Given the description of an element on the screen output the (x, y) to click on. 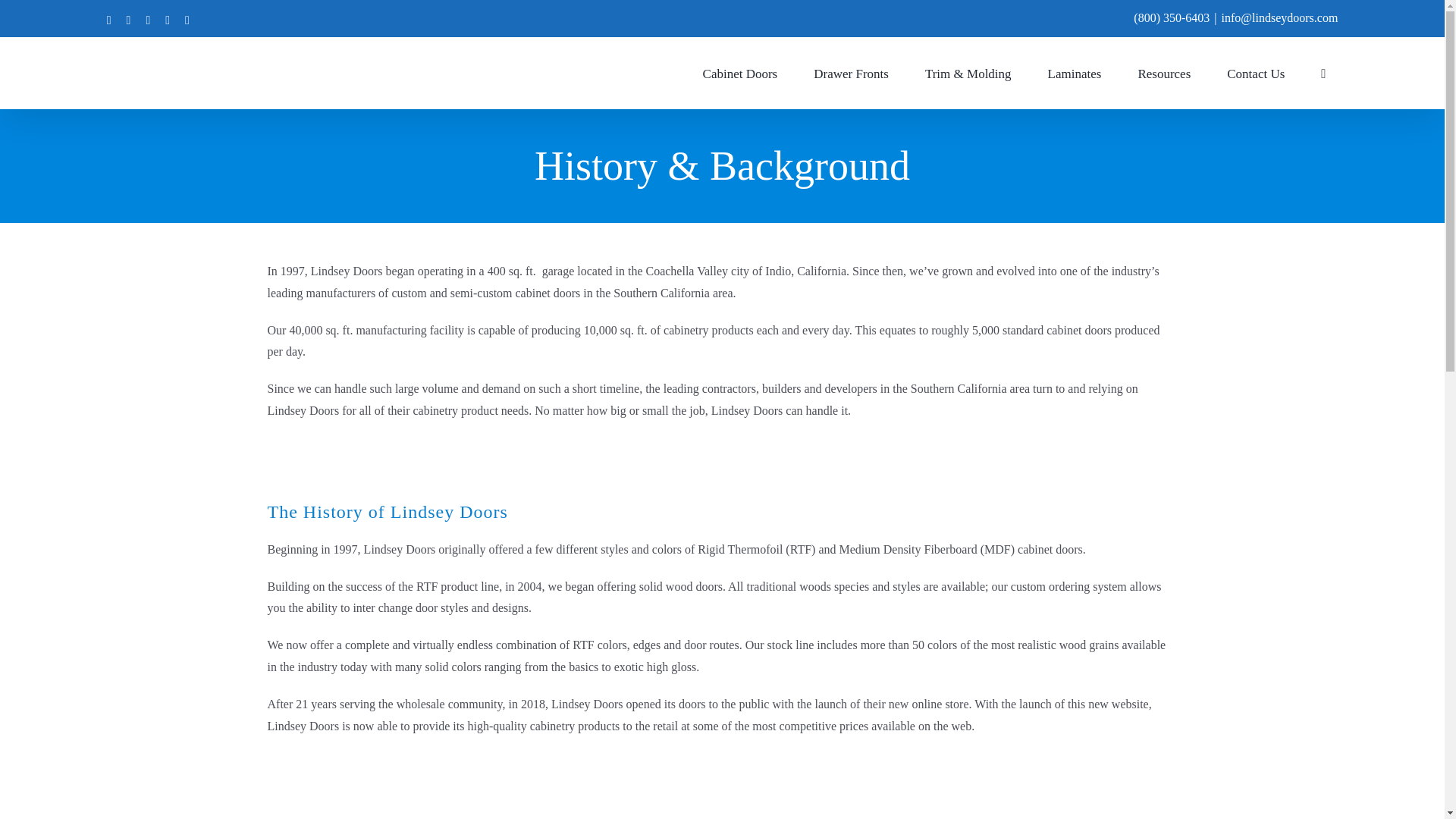
Drawer Fronts (850, 72)
Cabinet Doors (740, 72)
